Given the description of an element on the screen output the (x, y) to click on. 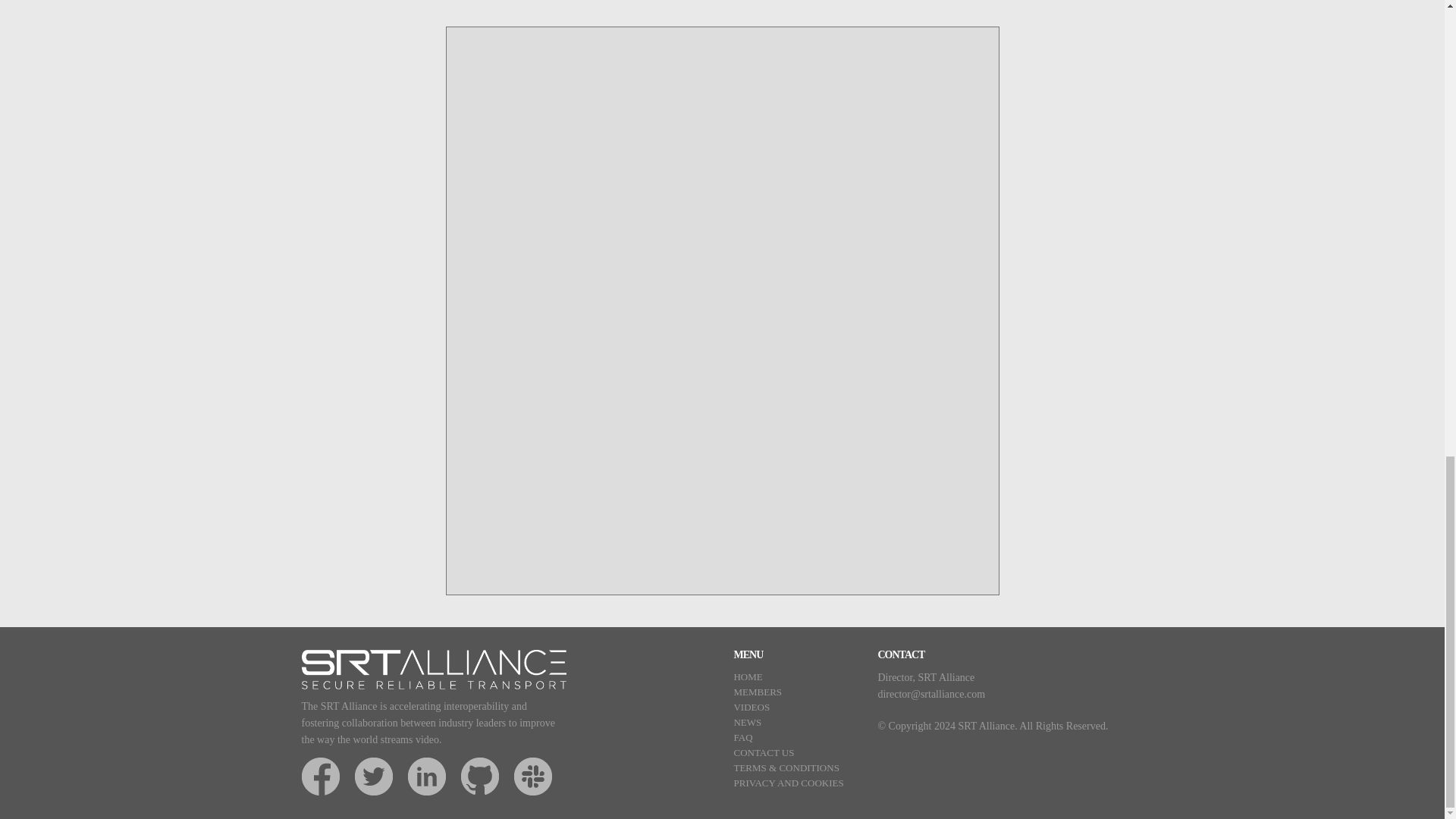
NEWS (747, 722)
HOME (747, 676)
FAQ (742, 737)
VIDEOS (751, 706)
CONTACT US (763, 752)
PRIVACY AND COOKIES (788, 782)
MEMBERS (757, 691)
